Given the description of an element on the screen output the (x, y) to click on. 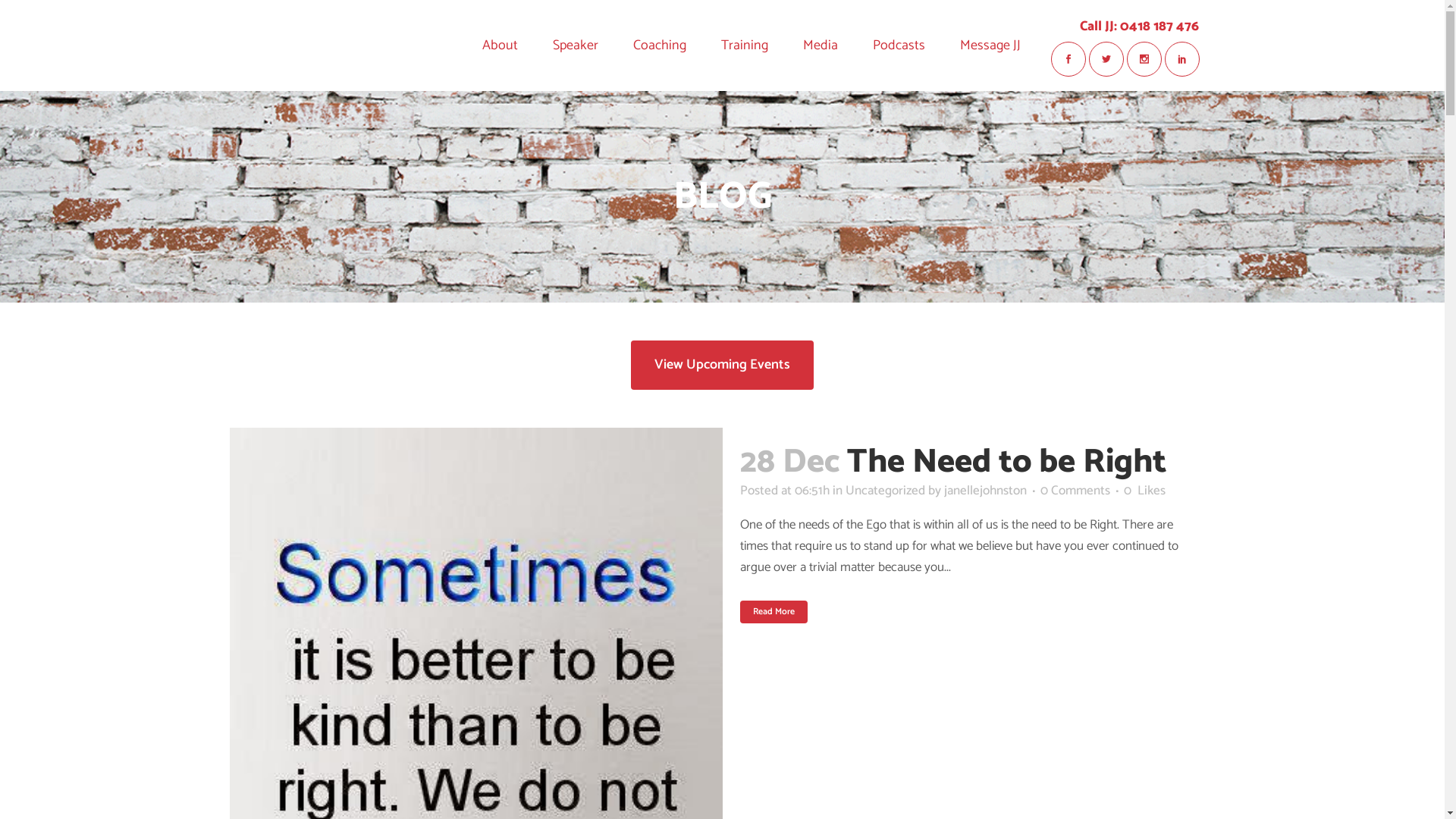
Uncategorized Element type: text (884, 490)
0 Likes Element type: text (1144, 490)
About Element type: text (499, 45)
Speaker Element type: text (575, 45)
Coaching Element type: text (659, 45)
Message JJ Element type: text (989, 45)
View Upcoming Events Element type: text (721, 364)
The Need to be Right Element type: text (1005, 462)
Training Element type: text (744, 45)
Read More Element type: text (773, 611)
Podcasts Element type: text (898, 45)
0 Comments Element type: text (1075, 490)
0418 187 476 Element type: text (1158, 26)
Media Element type: text (820, 45)
janellejohnston Element type: text (984, 490)
